Given the description of an element on the screen output the (x, y) to click on. 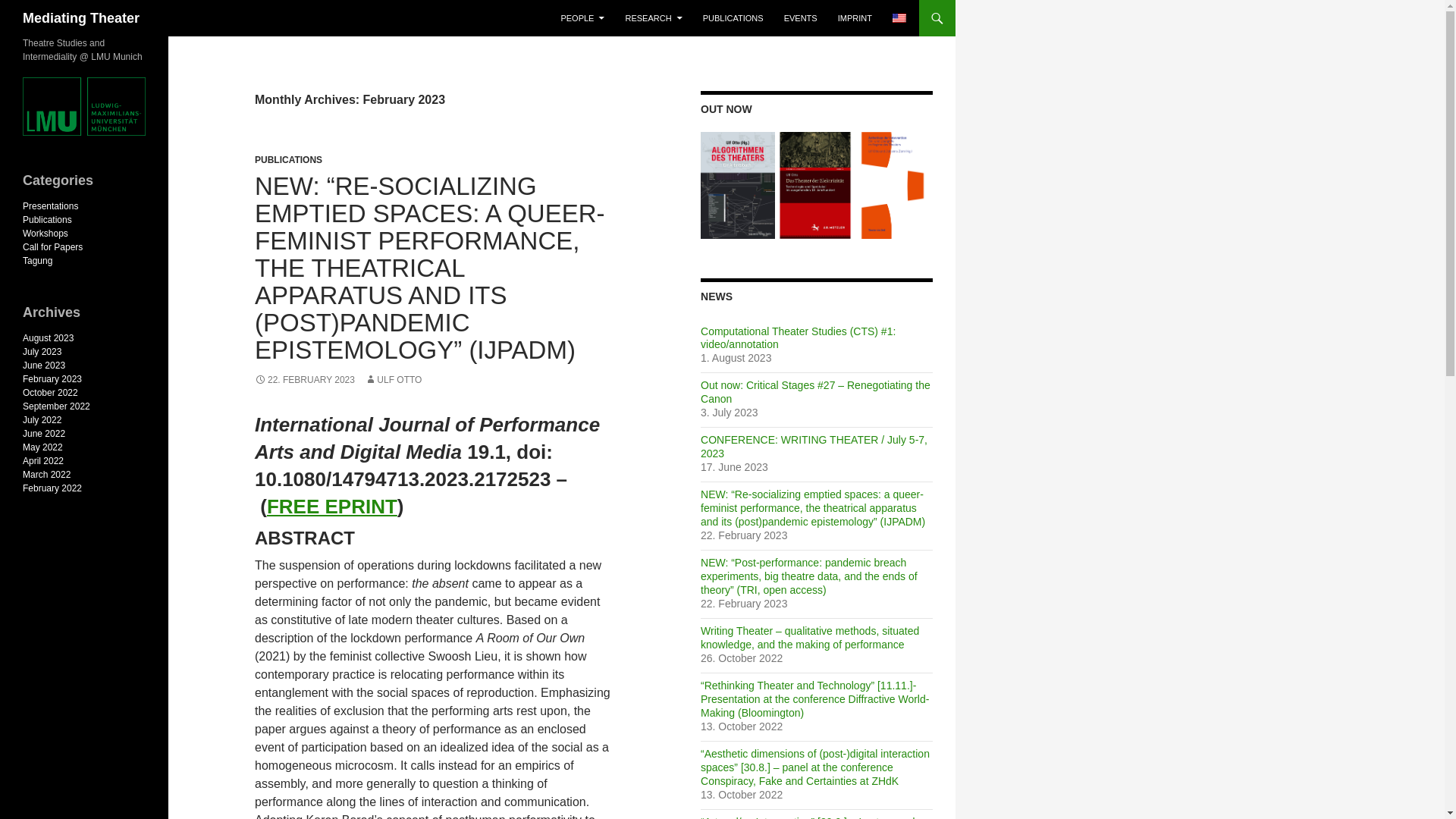
PUBLICATIONS (733, 18)
Mediating Theater (81, 18)
FREE EPRINT (331, 506)
PEOPLE (581, 18)
IMPRINT (854, 18)
22. FEBRUARY 2023 (304, 379)
PUBLICATIONS (287, 159)
RESEARCH (652, 18)
EVENTS (800, 18)
ULF OTTO (393, 379)
